Given the description of an element on the screen output the (x, y) to click on. 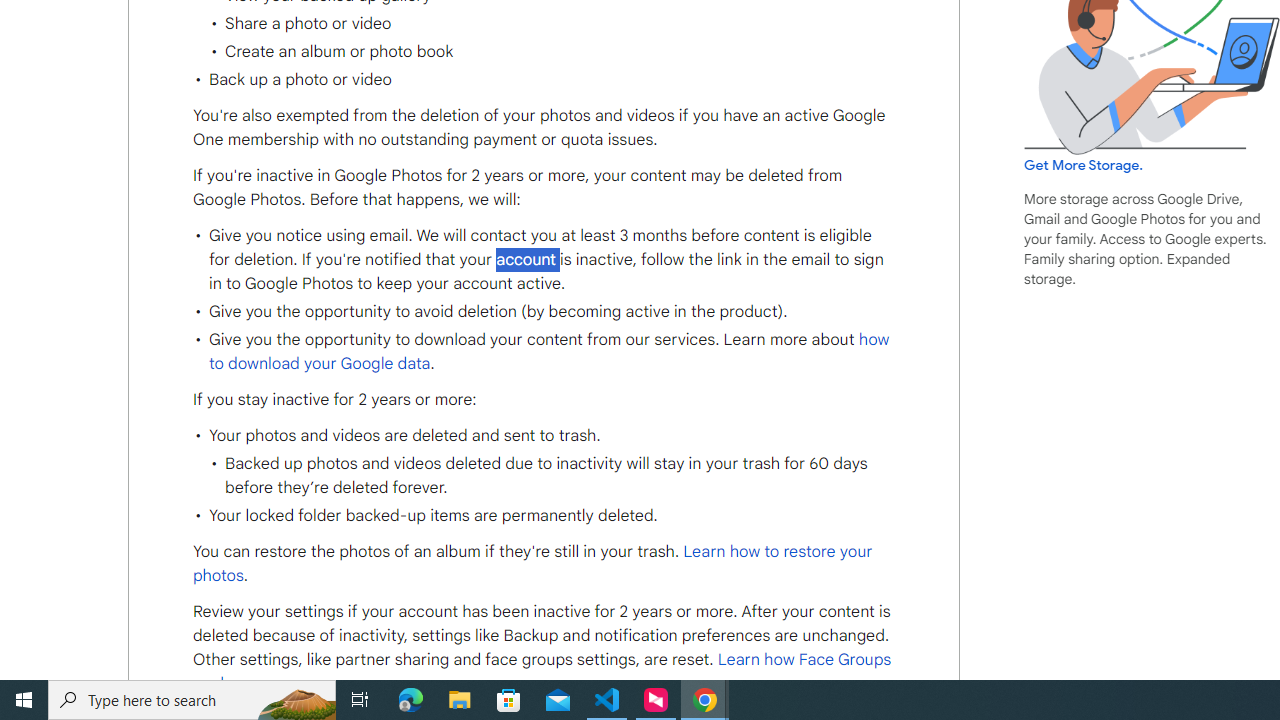
how to download your Google data (548, 351)
Learn how Face Groups works (542, 672)
Learn how to restore your photos (532, 564)
Get More Storage. (1083, 165)
